Given the description of an element on the screen output the (x, y) to click on. 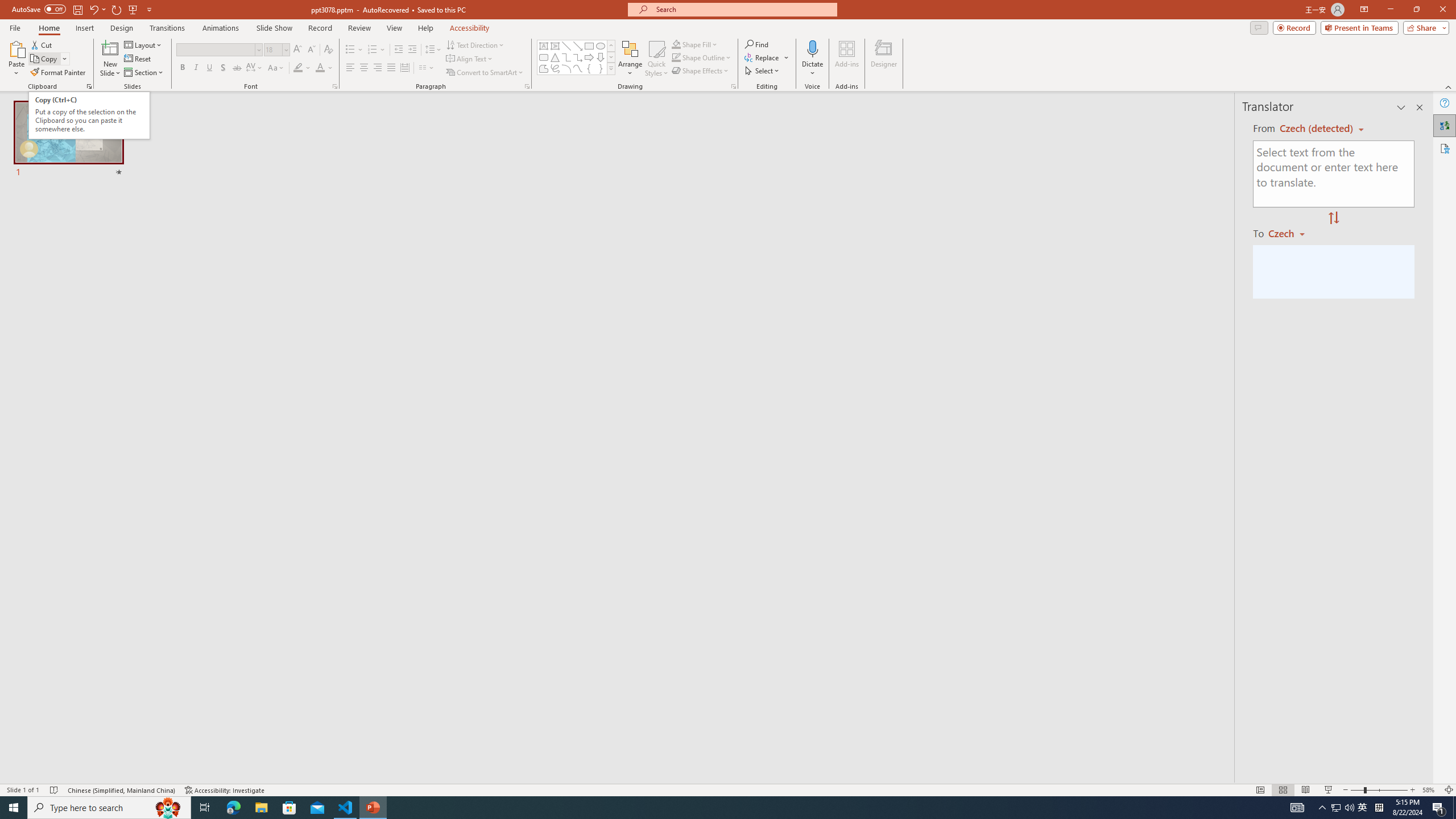
Restore Down (1416, 9)
Increase Font Size (297, 49)
Rectangle: Rounded Corners (543, 57)
Underline (209, 67)
Section (144, 72)
Class: MsoCommandBar (728, 789)
Spell Check No Errors (54, 790)
Dictate (812, 48)
Arc (566, 68)
Font Size (276, 49)
Line (566, 45)
Text Box (543, 45)
